Given the description of an element on the screen output the (x, y) to click on. 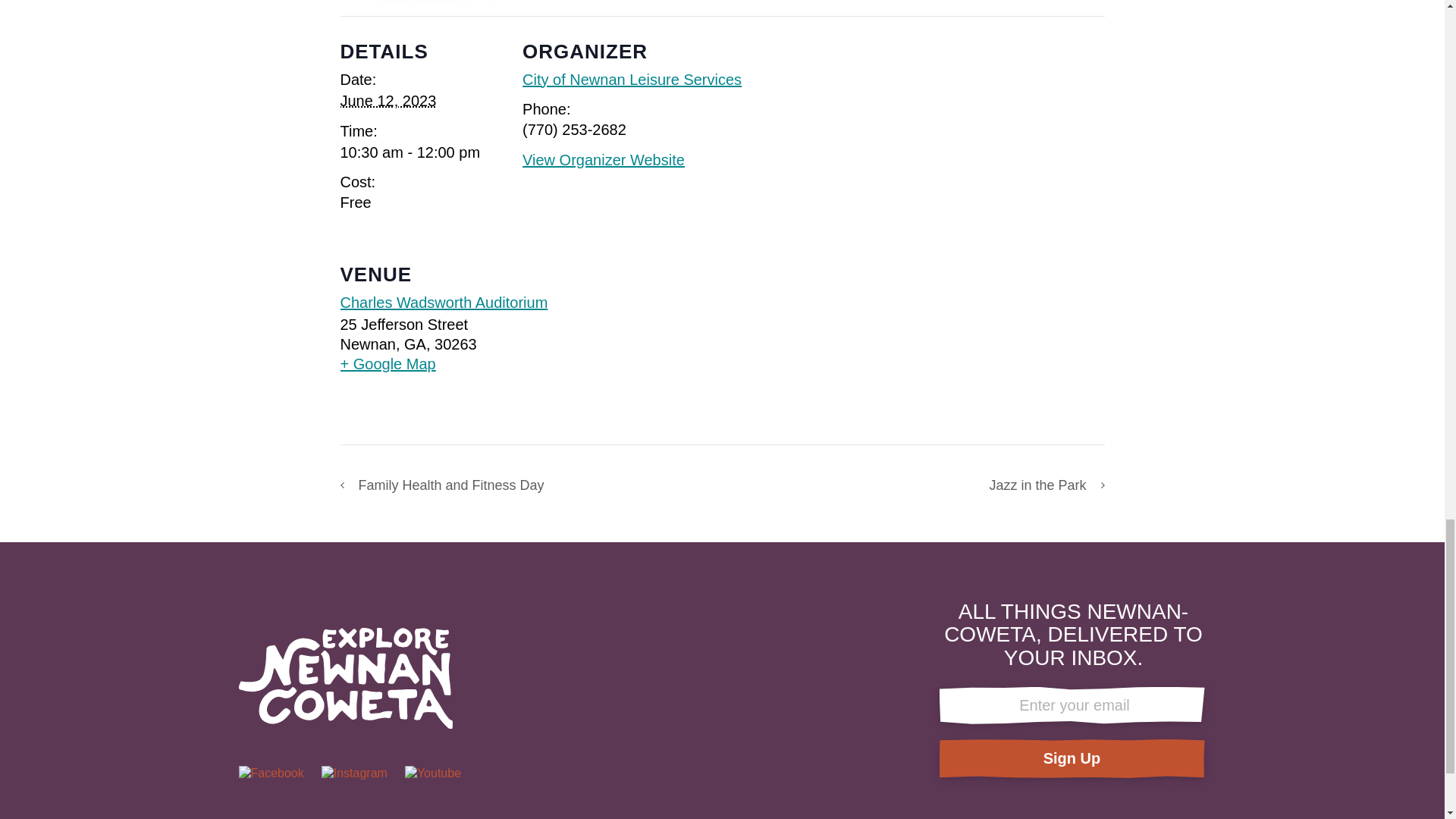
2023-06-12 (409, 152)
Click to view a Google Map (443, 363)
City of Newnan Leisure Services (631, 79)
2023-06-12 (387, 100)
Sign Up (1071, 758)
